Given the description of an element on the screen output the (x, y) to click on. 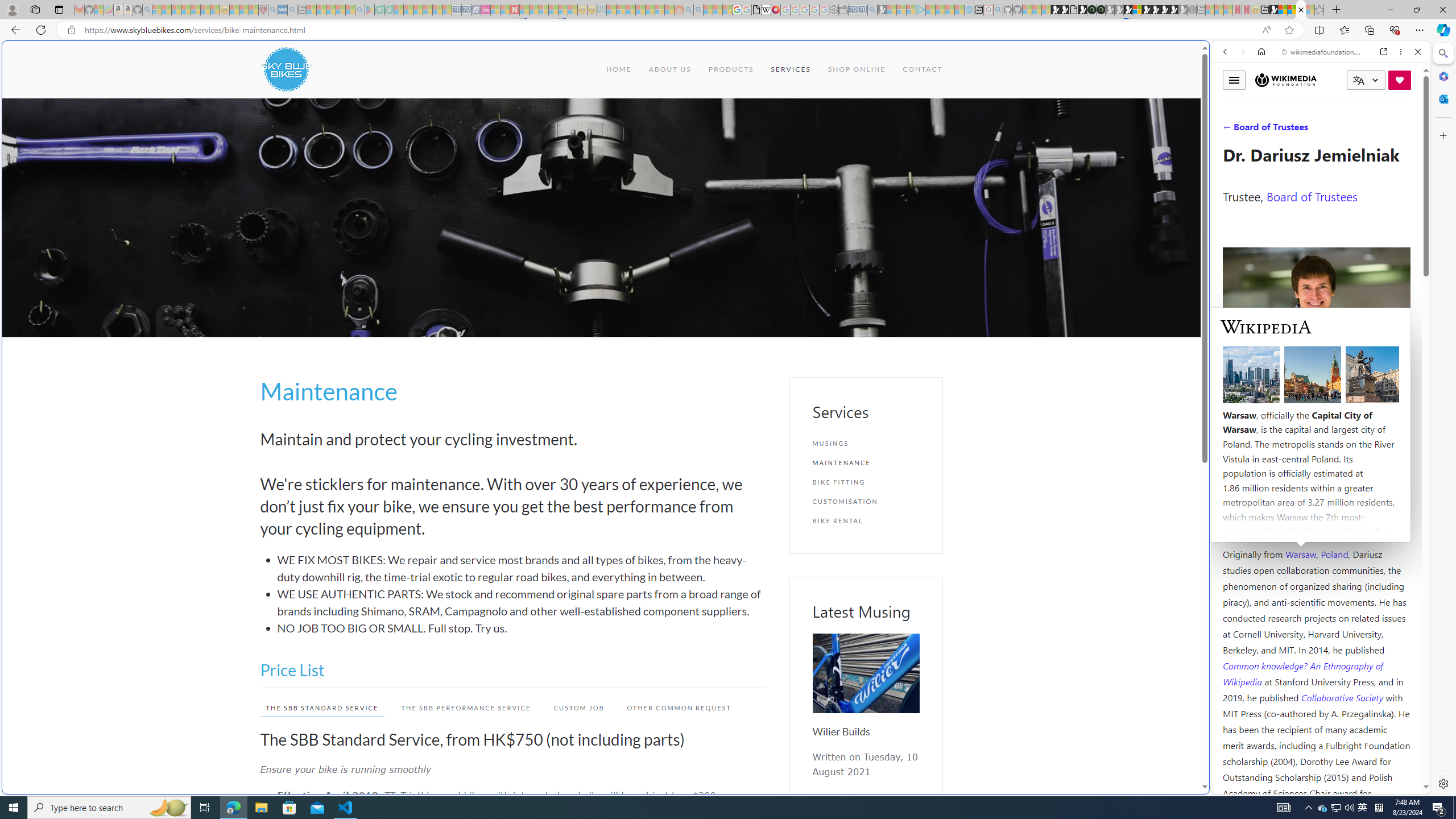
Poland (1334, 554)
Microsoft account | Privacy - Sleeping (910, 9)
Forward (1242, 51)
Cheap Hotels - Save70.com - Sleeping (466, 9)
Home | Sky Blue Bikes - Sky Blue Bikes (1118, 242)
Wallet - Sleeping (843, 9)
